Given the description of an element on the screen output the (x, y) to click on. 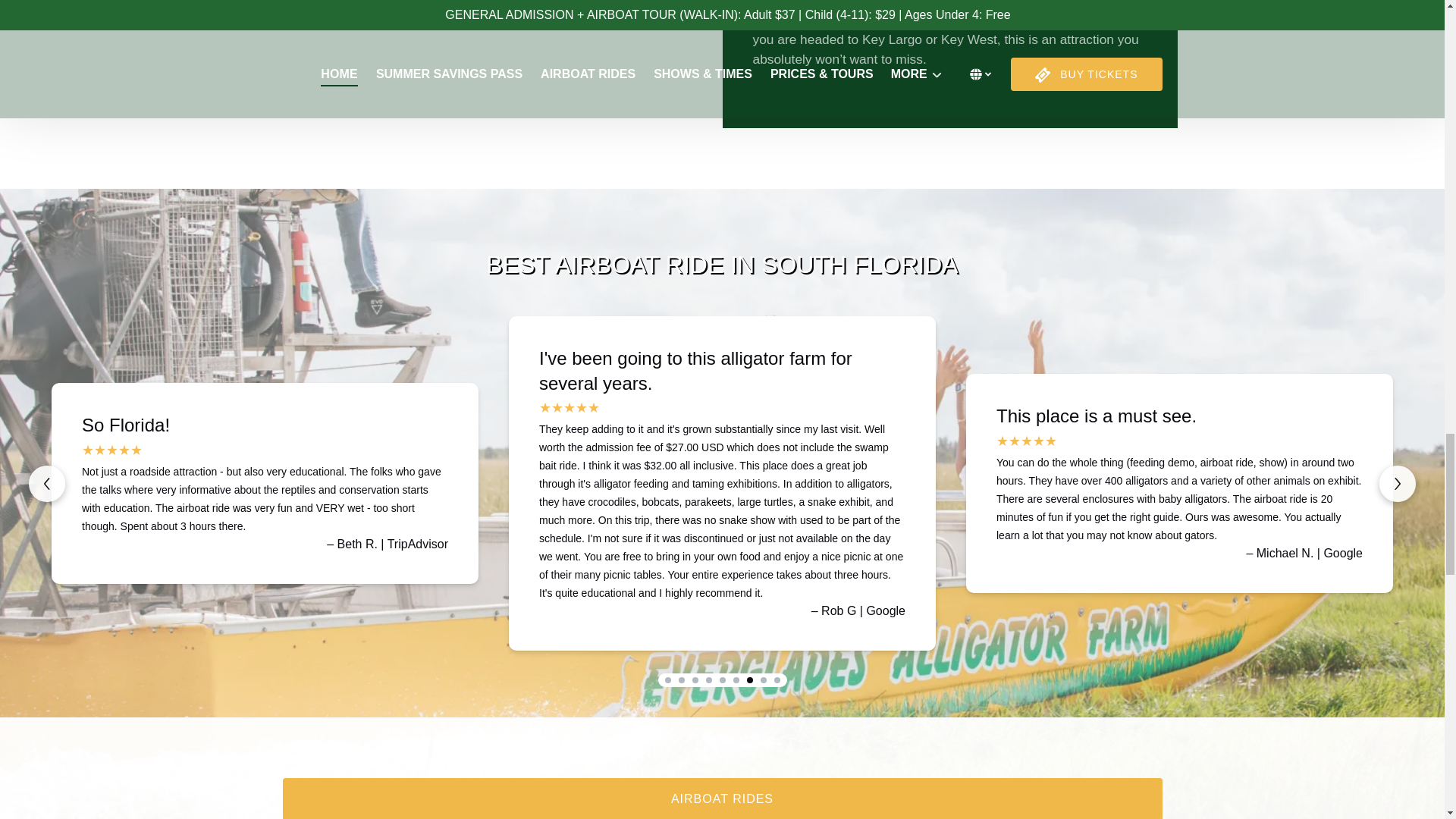
3 (694, 680)
5 (722, 680)
9 (775, 680)
2 (681, 680)
Next (1396, 484)
A Small Bite of Everglades Alligator Farm (494, 63)
1 (666, 680)
AIRBOAT RIDES (721, 798)
8 (762, 680)
4 (707, 680)
Previous (47, 484)
6 (735, 680)
7 (748, 680)
